Given the description of an element on the screen output the (x, y) to click on. 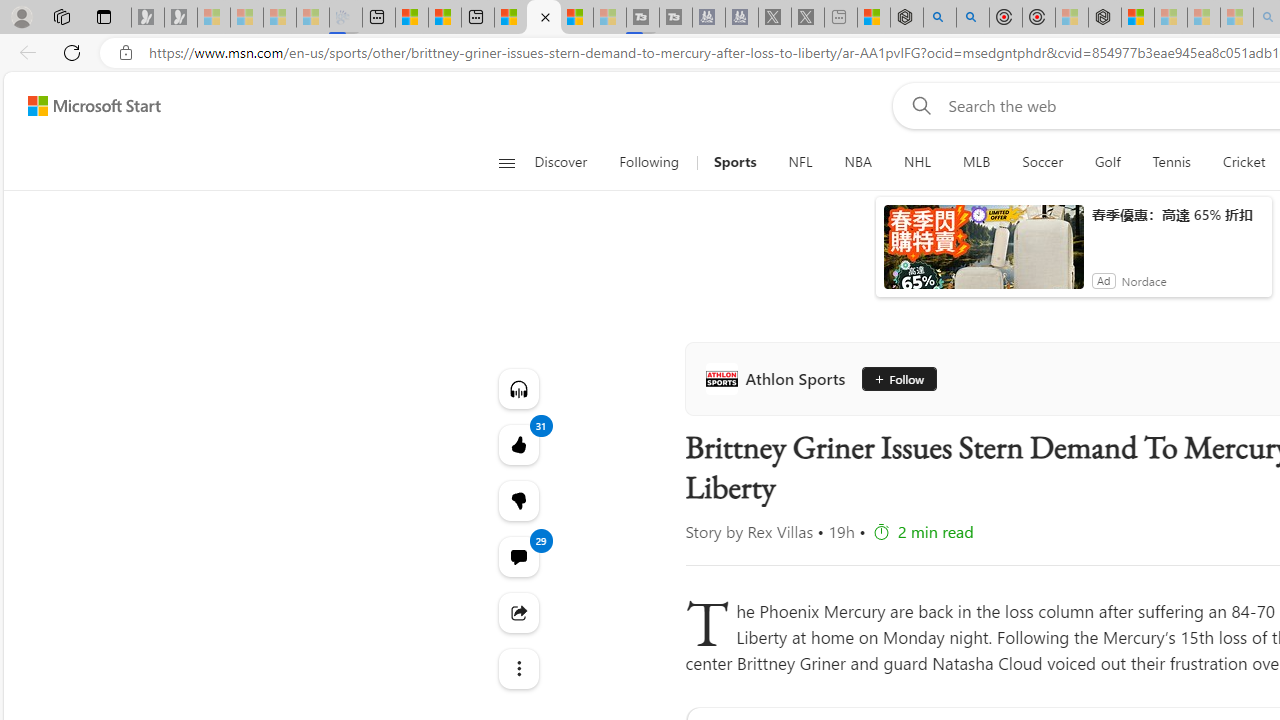
Workspaces (61, 16)
Ad (1103, 280)
